Given the description of an element on the screen output the (x, y) to click on. 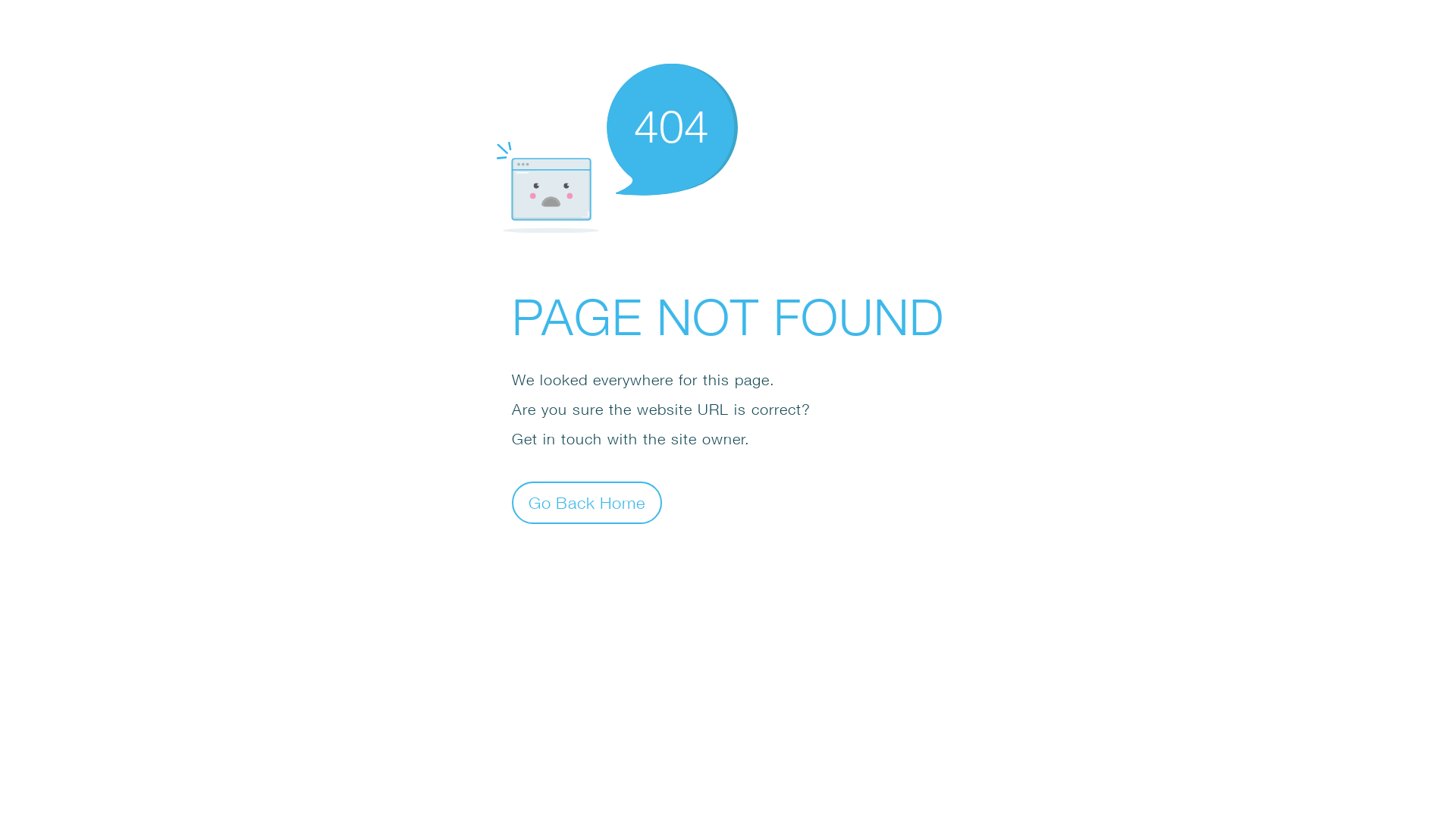
Go Back Home Element type: text (586, 502)
